Given the description of an element on the screen output the (x, y) to click on. 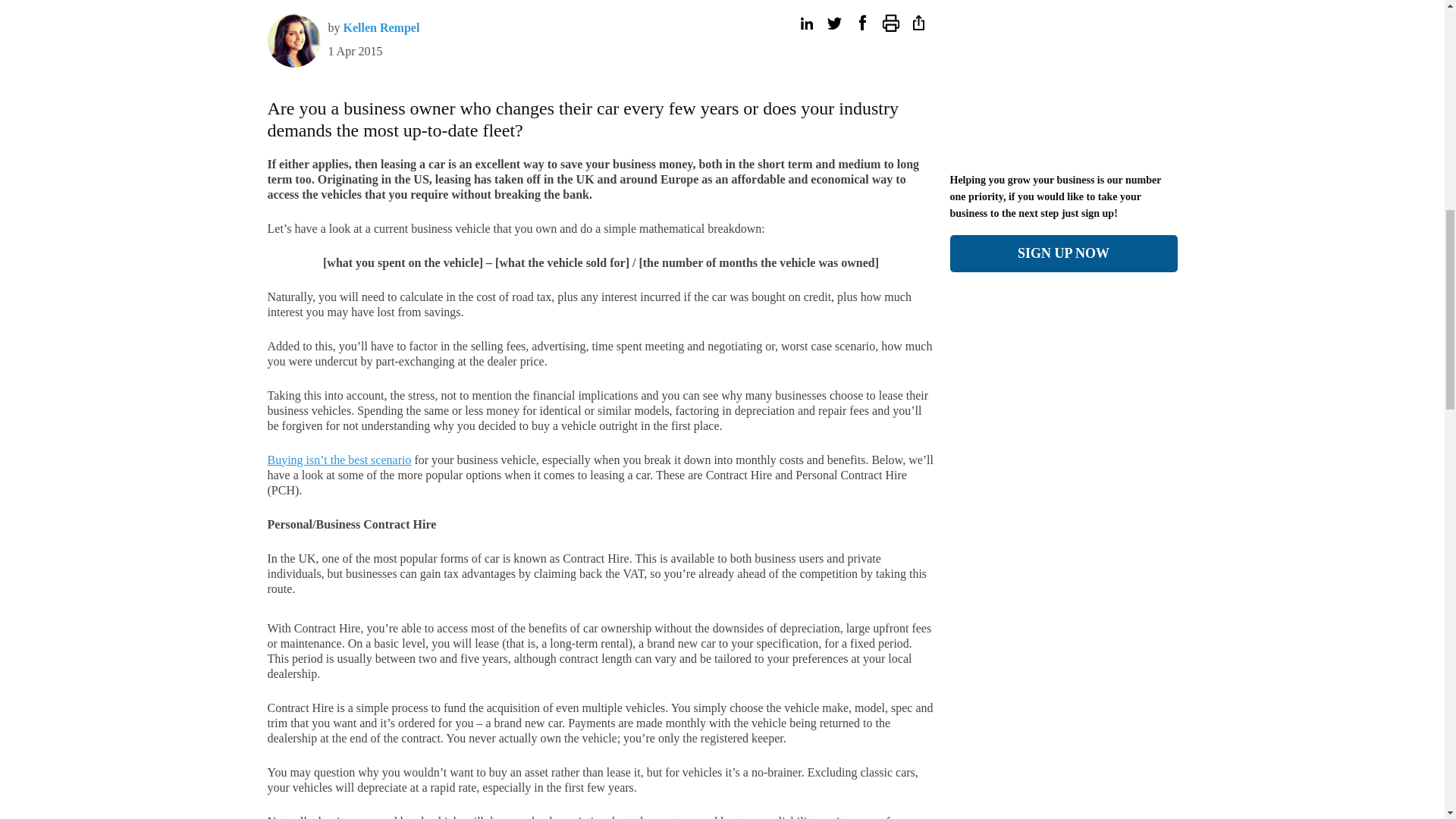
Share on LinkedIn (805, 22)
Share on Facebook (861, 22)
Tweet this article (835, 22)
Print this article (890, 22)
